Given the description of an element on the screen output the (x, y) to click on. 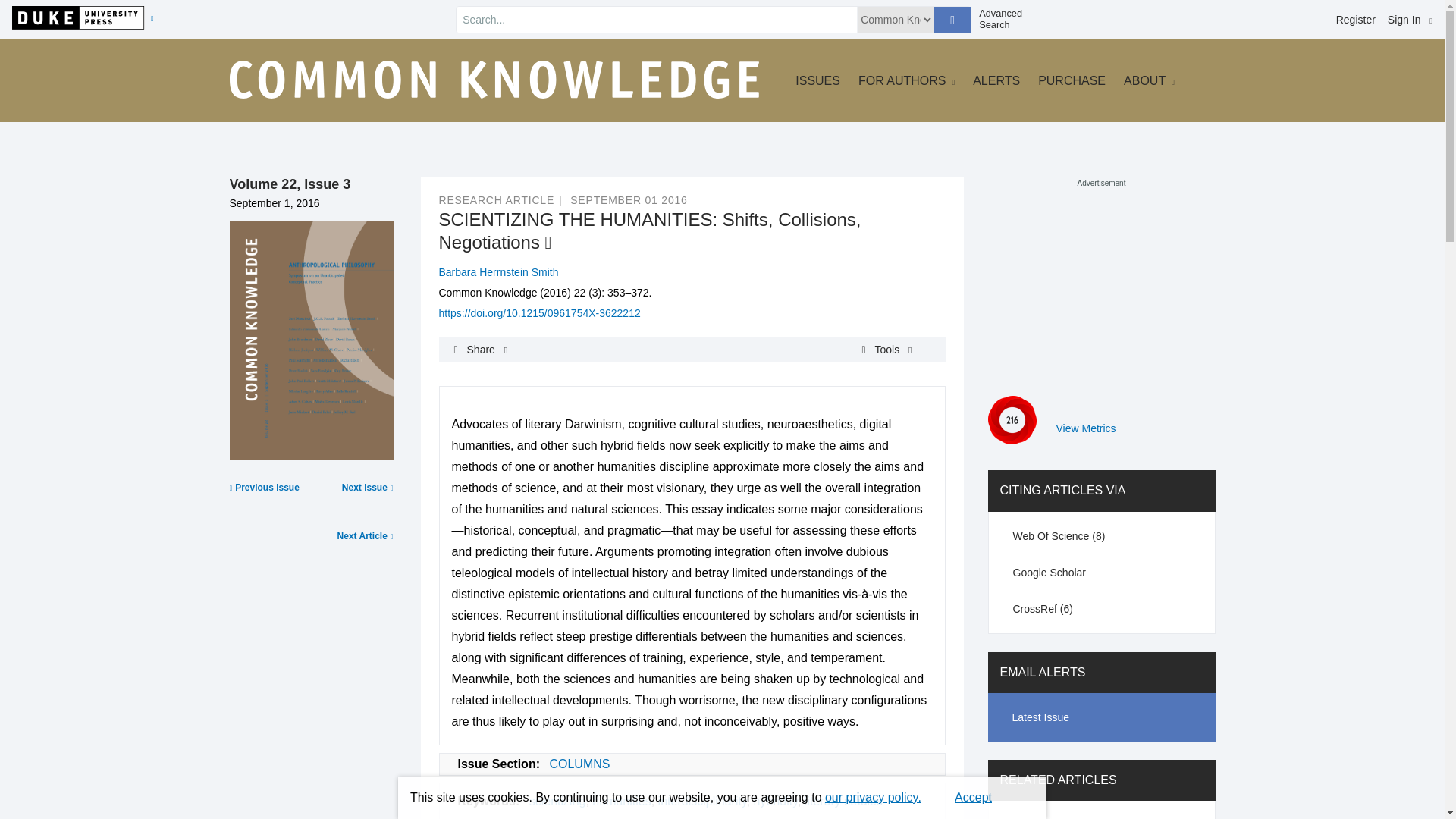
ALERTS (996, 80)
Advanced Search (1005, 19)
FOR AUTHORS (907, 80)
3rd party ad content (1100, 284)
Register (1355, 19)
search input (657, 19)
Sign In (1409, 19)
ISSUES (817, 80)
PURCHASE (1071, 80)
